Given the description of an element on the screen output the (x, y) to click on. 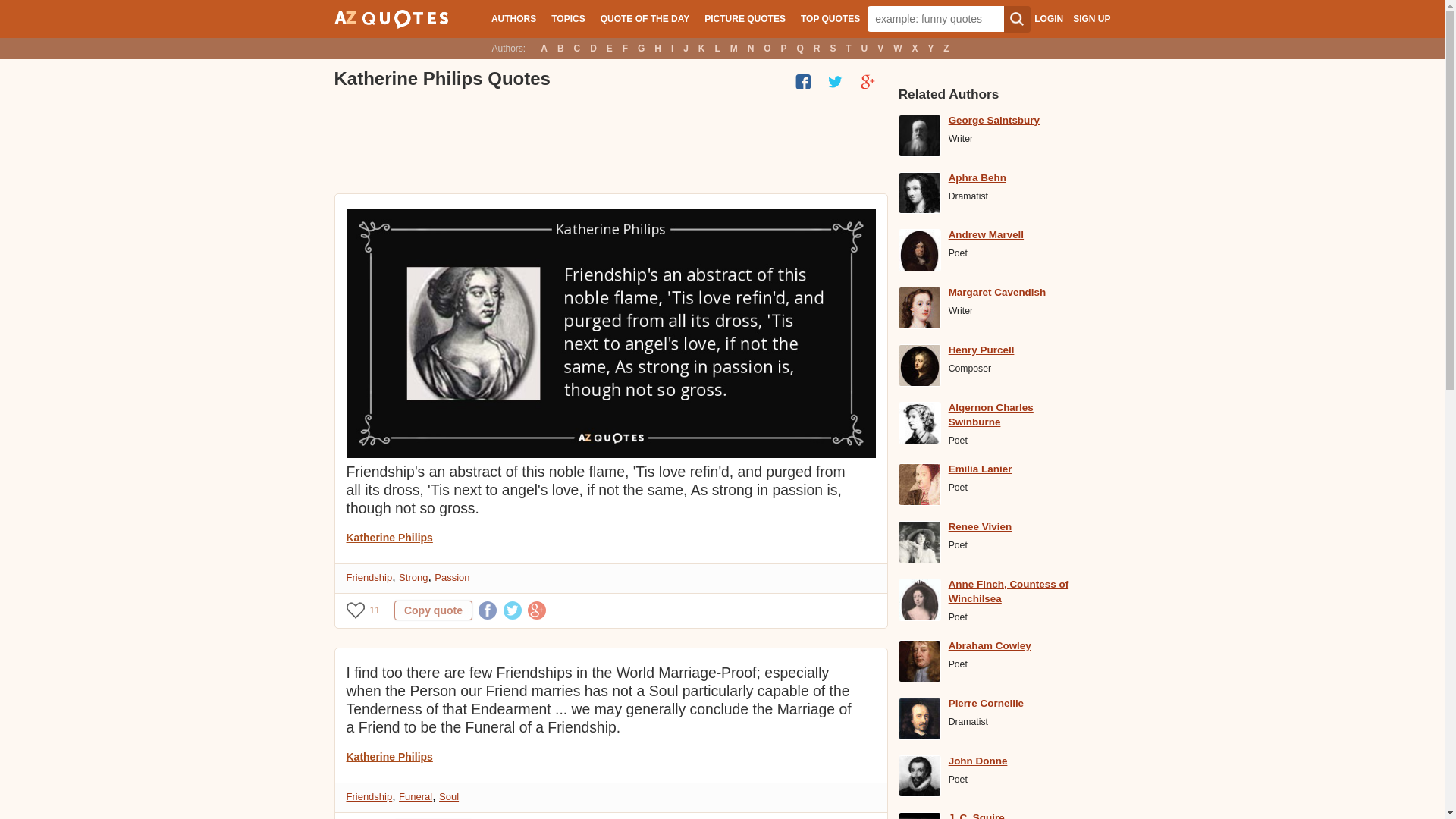
AUTHORS (513, 18)
QUOTE OF THE DAY (644, 18)
SIGN UP (1091, 18)
TOPICS (567, 18)
TOP QUOTES (830, 18)
Advertisement (609, 143)
PICTURE QUOTES (745, 18)
LOGIN (1047, 18)
